Given the description of an element on the screen output the (x, y) to click on. 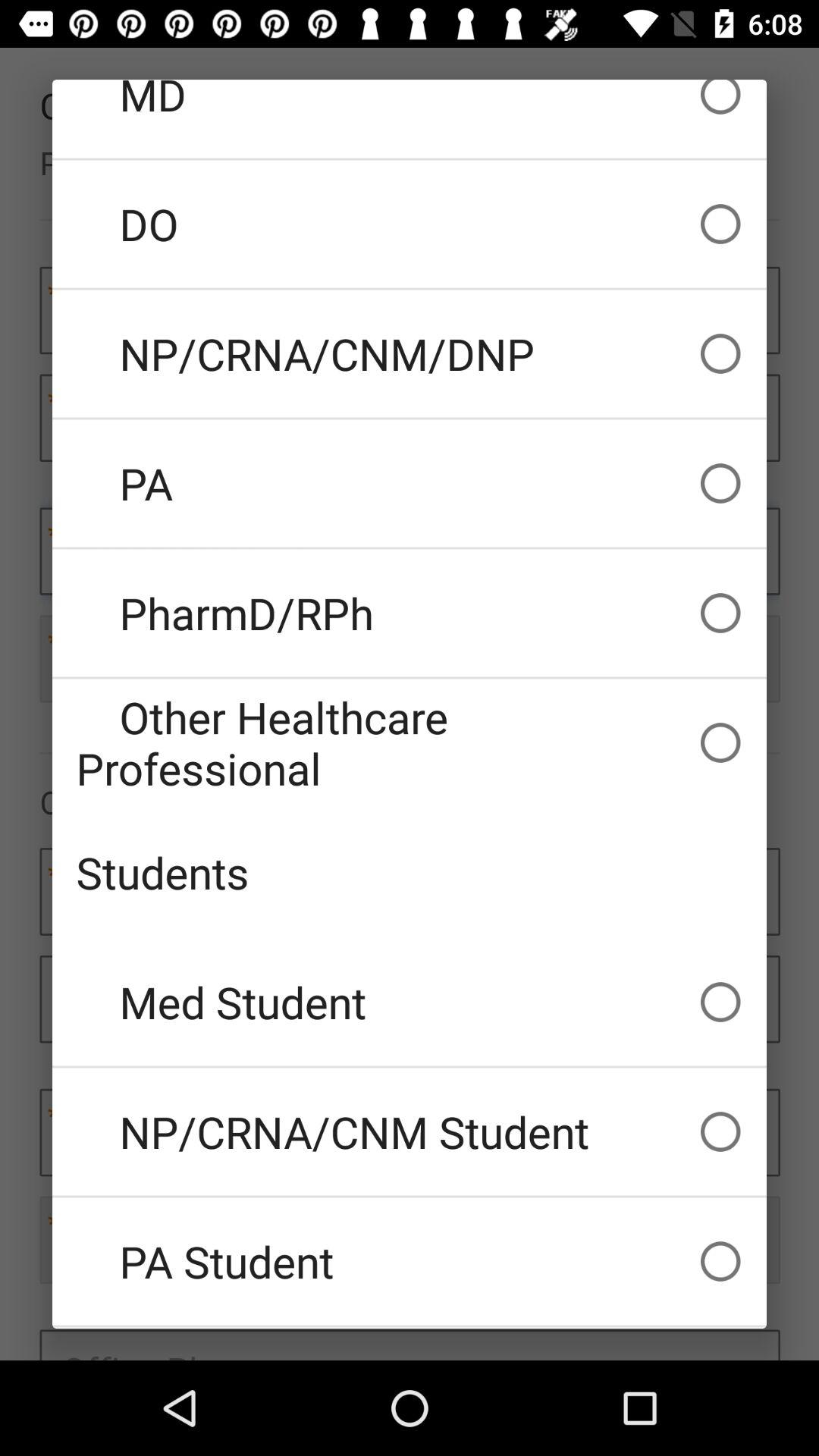
open the item above the np crna cnm icon (409, 1001)
